Given the description of an element on the screen output the (x, y) to click on. 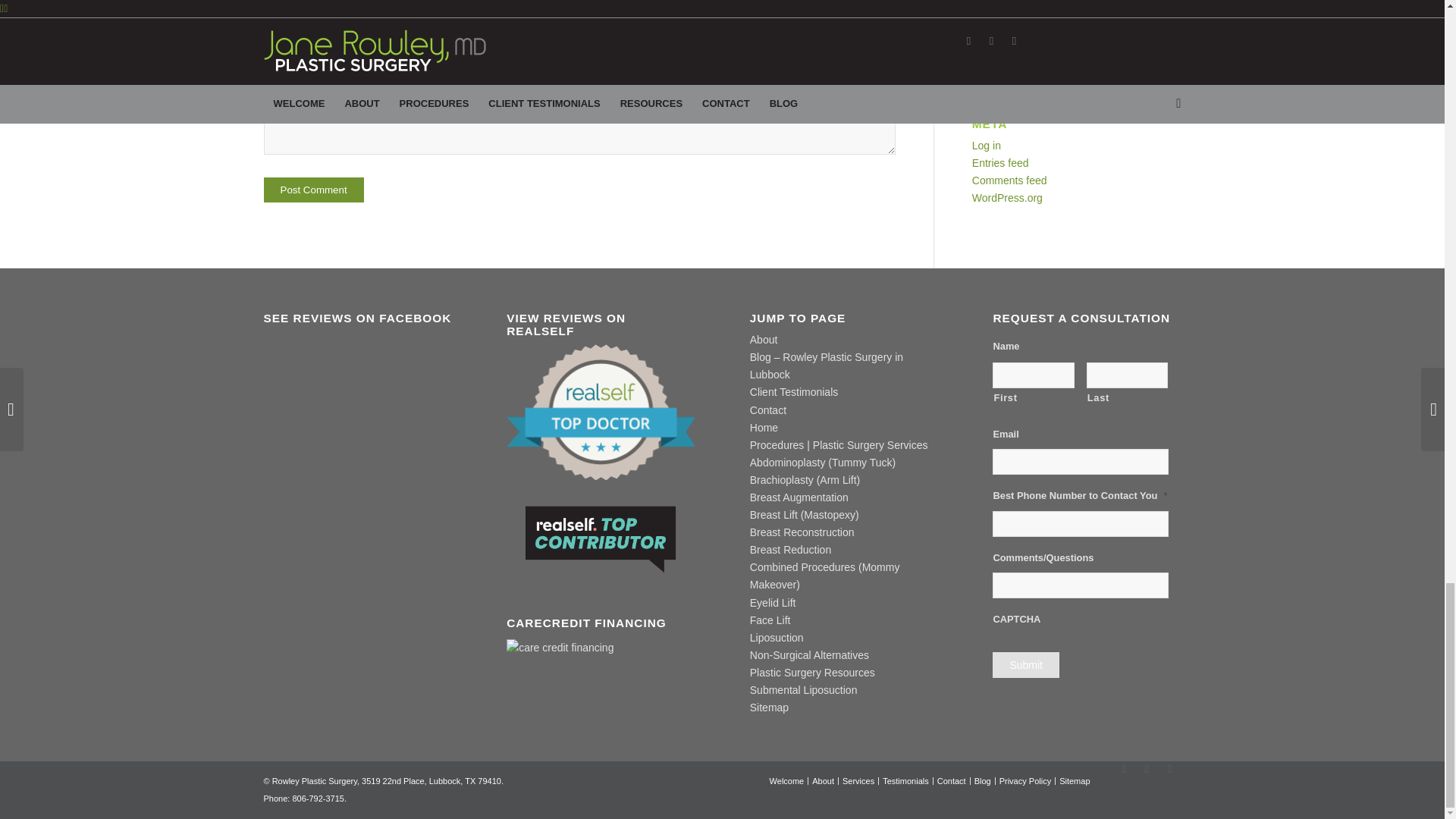
Submit (1025, 664)
yes (271, 22)
Post Comment (313, 188)
